Given the description of an element on the screen output the (x, y) to click on. 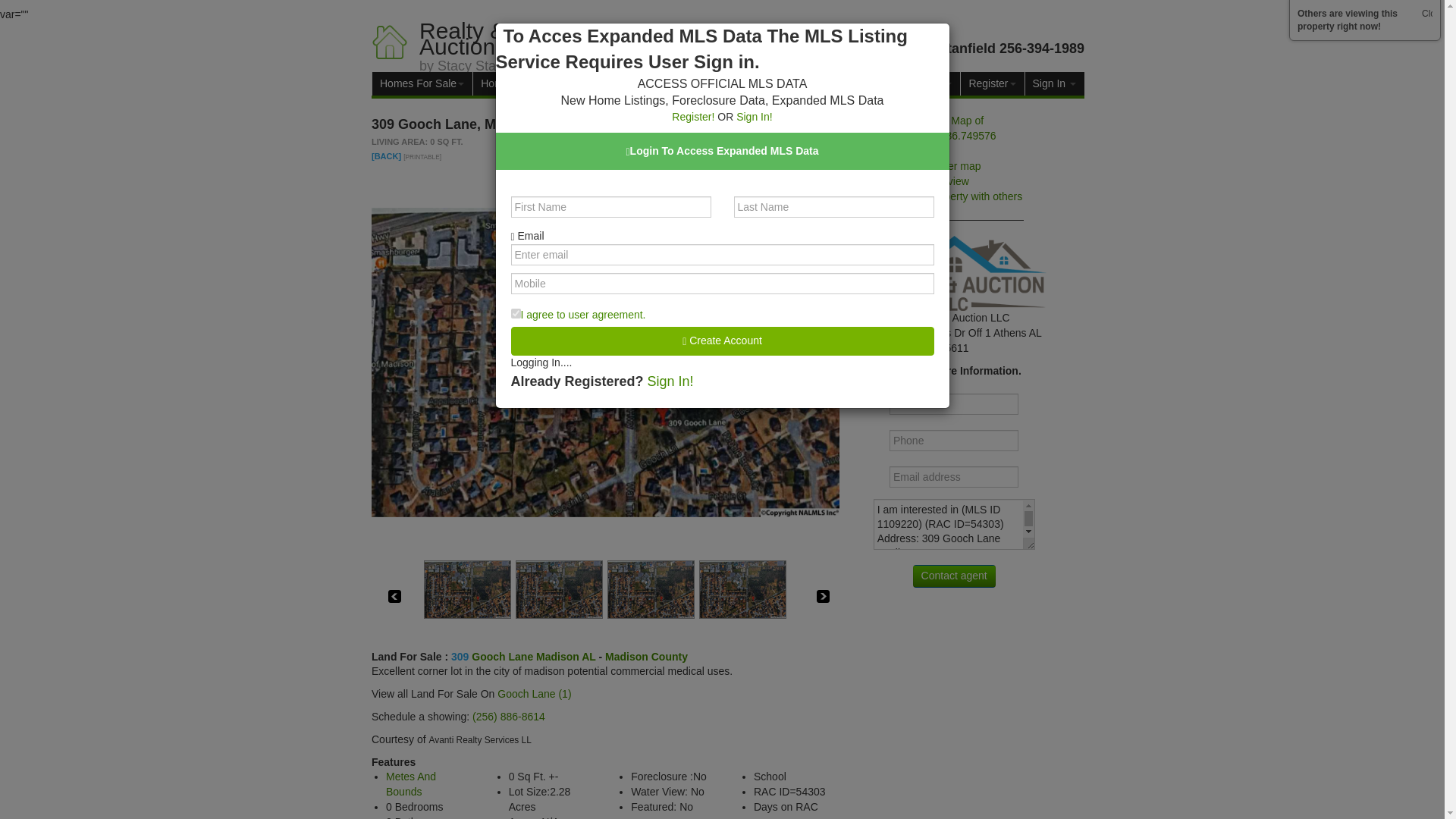
Register (991, 83)
Property Management (895, 83)
Land For Sale  Madison (557, 656)
Homes For Rent (523, 83)
Condos (672, 83)
Sign In (1054, 83)
Land For Sale  Gooch Lane (503, 656)
Specialty (608, 83)
Land For Sale  AL (587, 656)
Homes For Sale (421, 83)
1 (516, 313)
Homes For Rent (523, 83)
Agent Tools (789, 83)
